Given the description of an element on the screen output the (x, y) to click on. 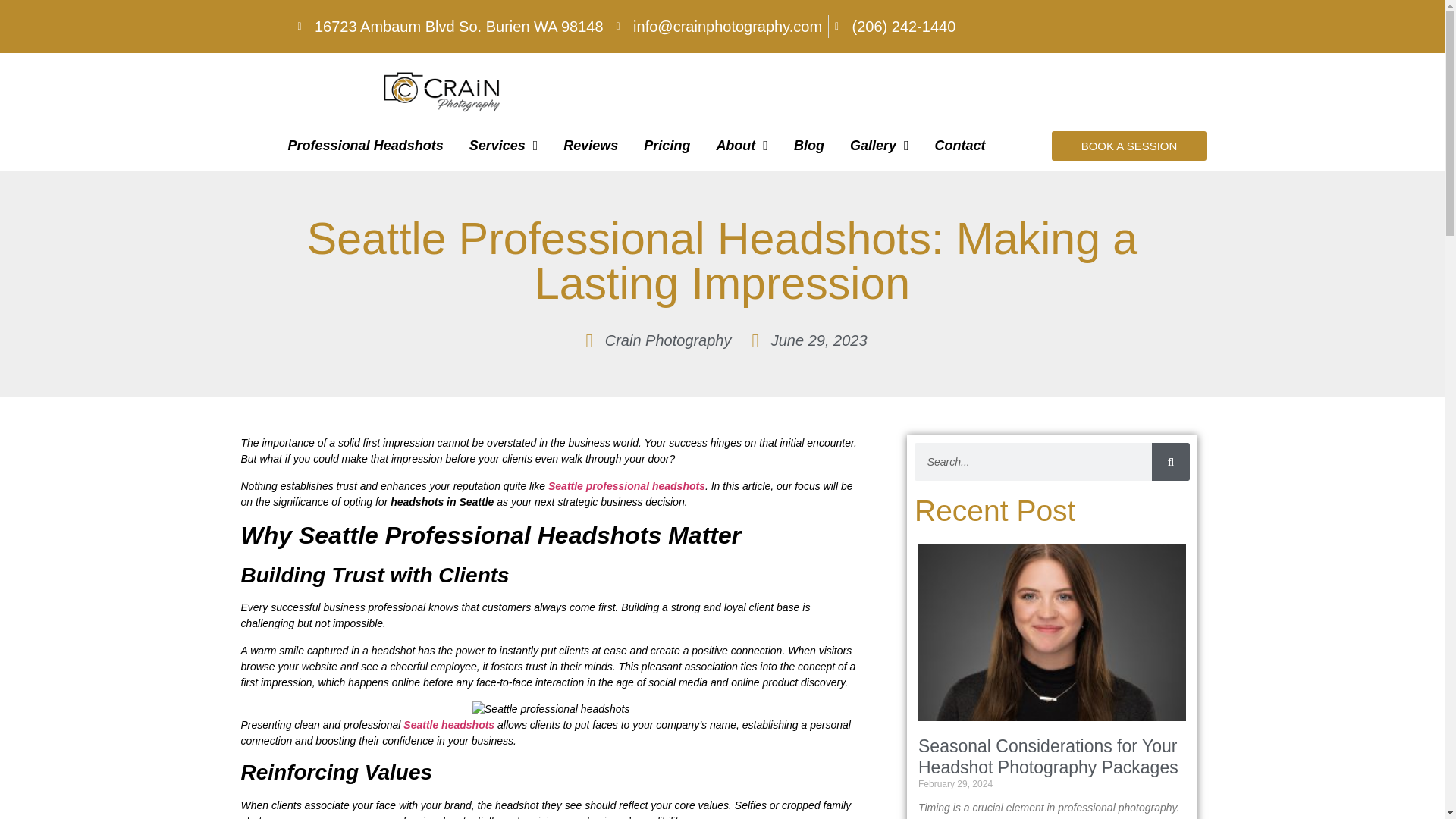
Pricing (666, 144)
Professional Headshots (366, 144)
16723 Ambaum Blvd So. Burien WA 98148 (449, 26)
About (741, 144)
Gallery (879, 144)
Contact (959, 144)
Reviews (590, 144)
Blog (808, 144)
Services (504, 144)
